Given the description of an element on the screen output the (x, y) to click on. 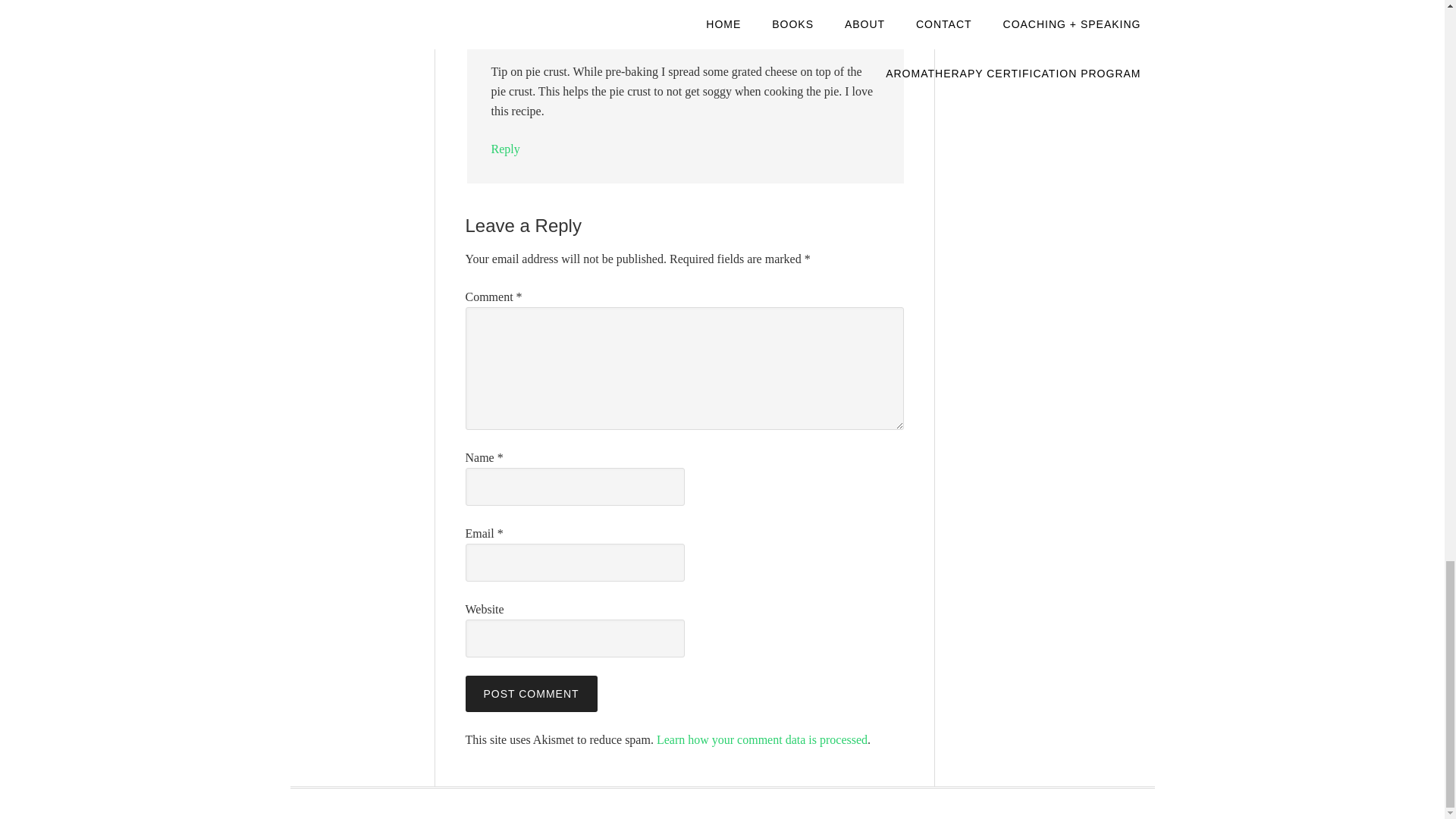
Post Comment (530, 693)
Learn how your comment data is processed (761, 739)
July 20, 2024 at 9:03 am (599, 33)
Post Comment (530, 693)
Reply (505, 148)
